Given the description of an element on the screen output the (x, y) to click on. 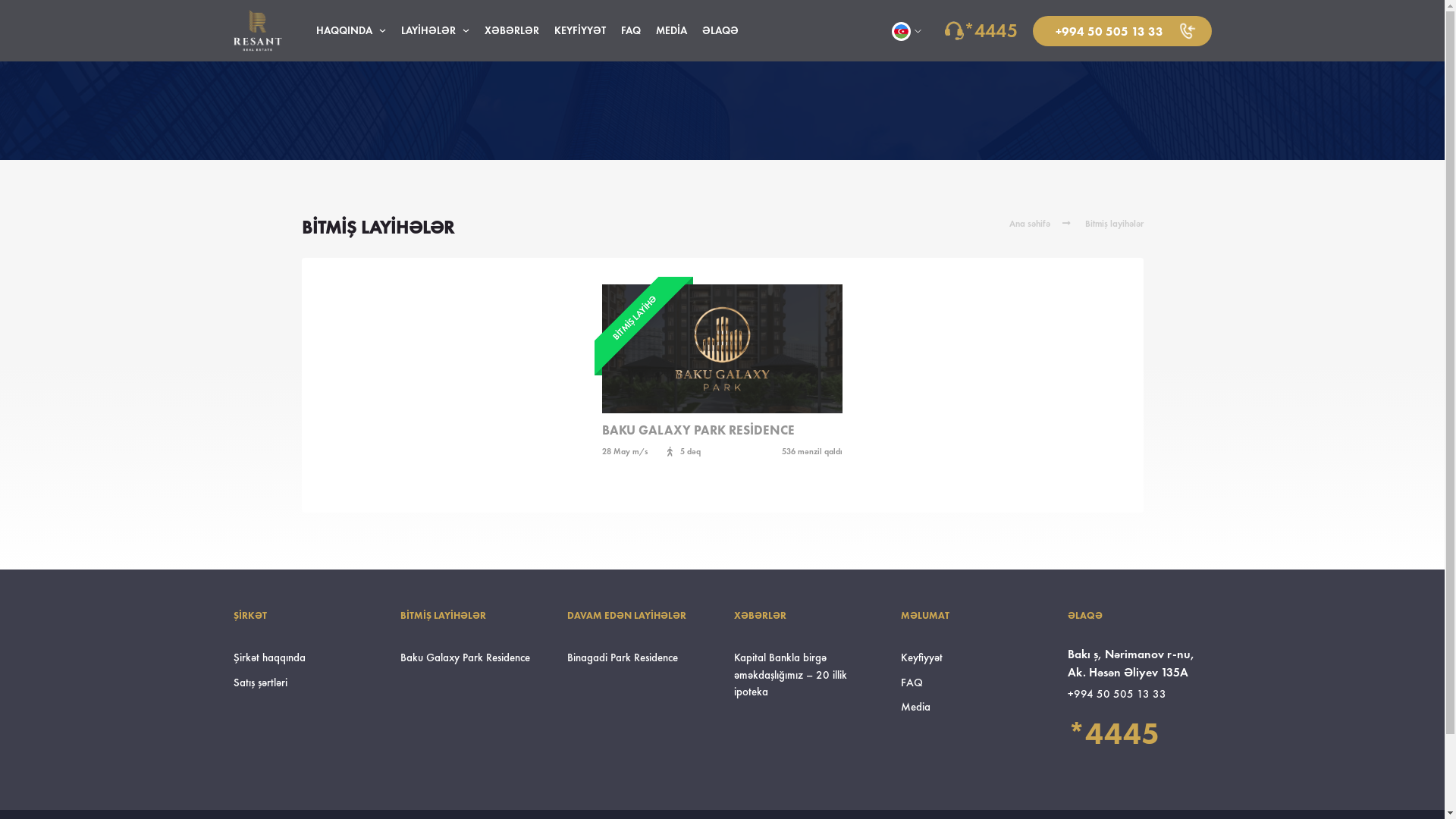
+994 50 505 13 33 Element type: text (1121, 30)
+994 50 505 13 33 Element type: text (1116, 693)
FAQ Element type: text (911, 682)
MEDIA Element type: text (671, 31)
Media Element type: text (915, 706)
*4445 Element type: text (1113, 732)
HAQQINDA Element type: text (350, 31)
Baku Galaxy Park Residence Element type: text (465, 657)
Binagadi Park Residence Element type: text (622, 657)
*4445 Element type: text (989, 30)
FAQ Element type: text (630, 31)
